Given the description of an element on the screen output the (x, y) to click on. 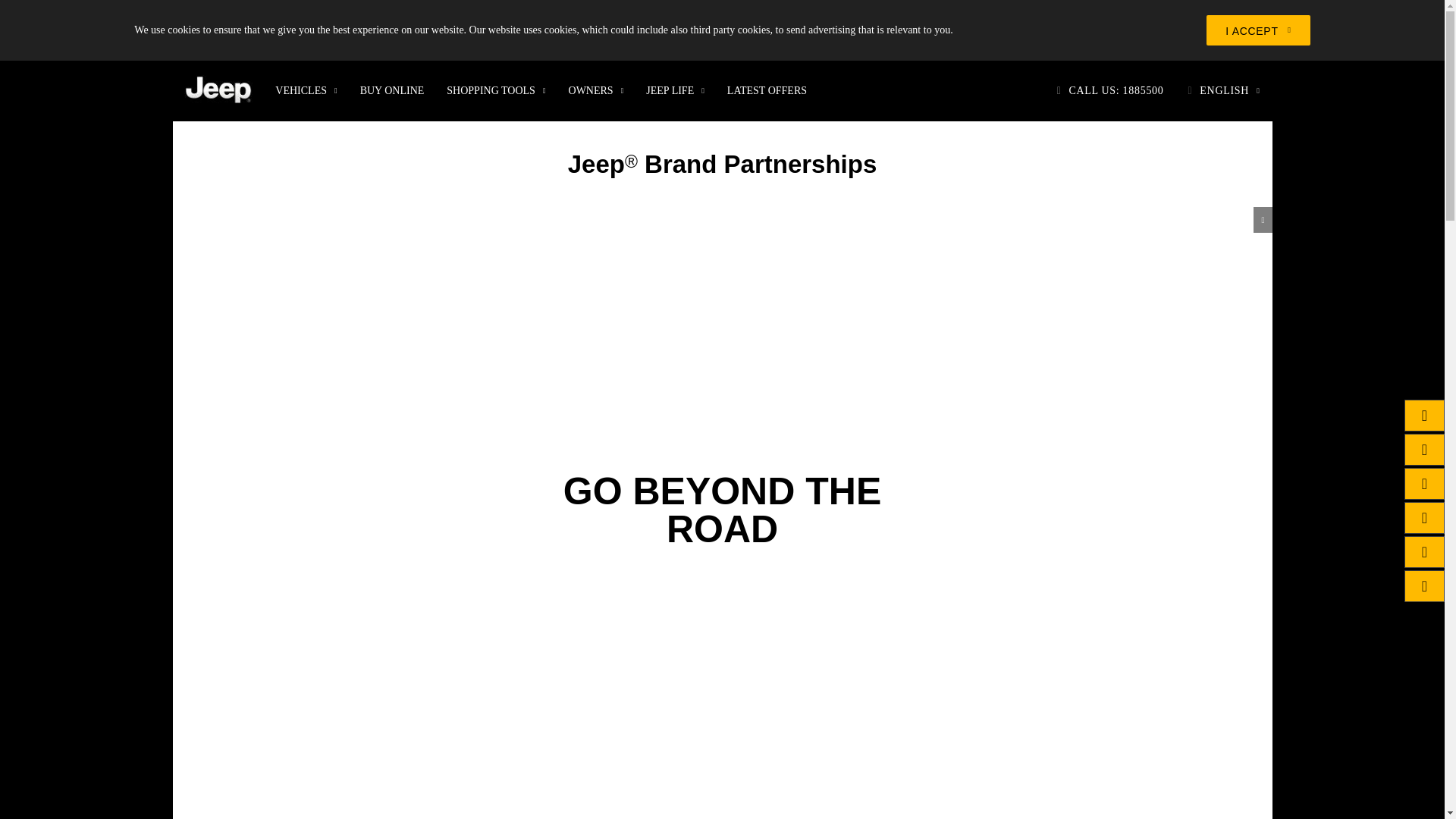
OWNERS (595, 90)
CALL US: 1885500 (1110, 90)
I ACCEPT (1257, 30)
SHOPPING TOOLS (495, 90)
JEEP LIFE (675, 90)
VEHICLES (305, 90)
LATEST OFFERS (767, 90)
ENGLISH (1224, 90)
BUY ONLINE (392, 90)
